Given the description of an element on the screen output the (x, y) to click on. 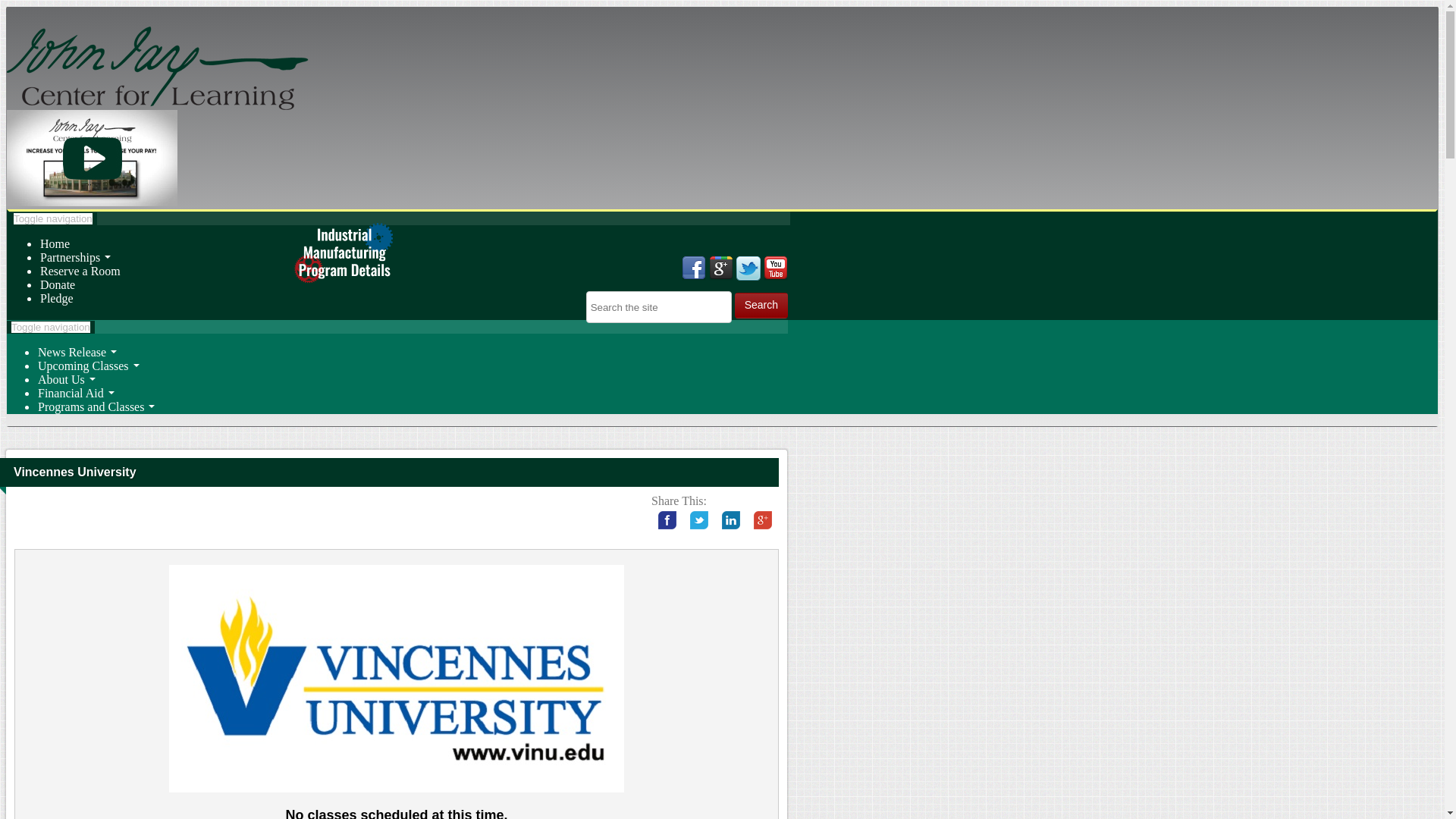
Pledge (57, 297)
Toggle navigation (52, 218)
Find us on Facebook (693, 268)
Toggle navigation (50, 327)
News Release... (76, 351)
Reserve a Room (80, 270)
Partnerships... (75, 256)
Follow us on Google Plus (721, 268)
Publicly Share on Google Plus (762, 519)
Share on Linkedin (730, 519)
Upcoming Classes... (88, 365)
Share on Facebook (666, 519)
Donate (57, 284)
Search (761, 305)
Financial Aid... (76, 392)
